Given the description of an element on the screen output the (x, y) to click on. 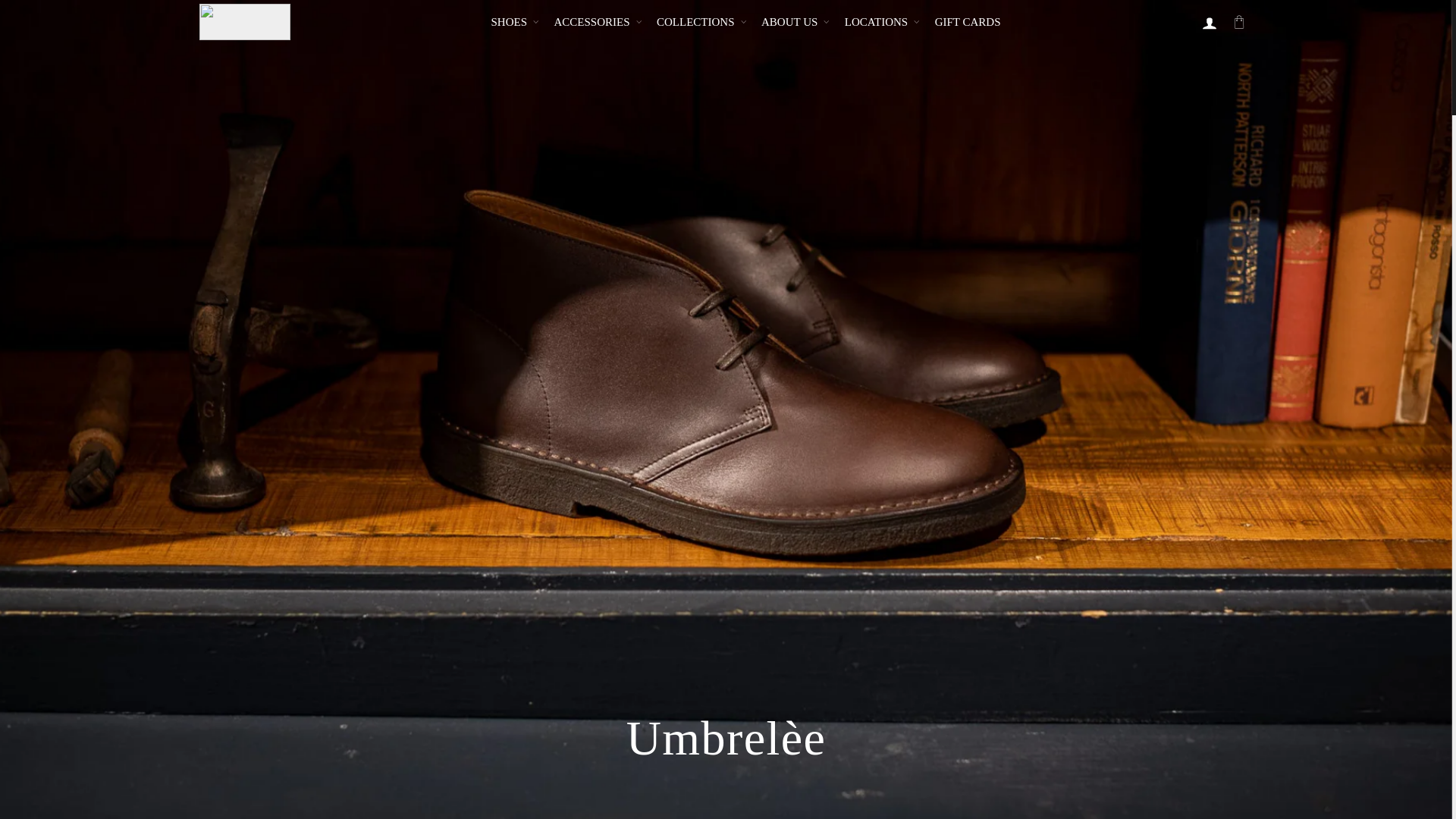
My Account (1208, 21)
